Given the description of an element on the screen output the (x, y) to click on. 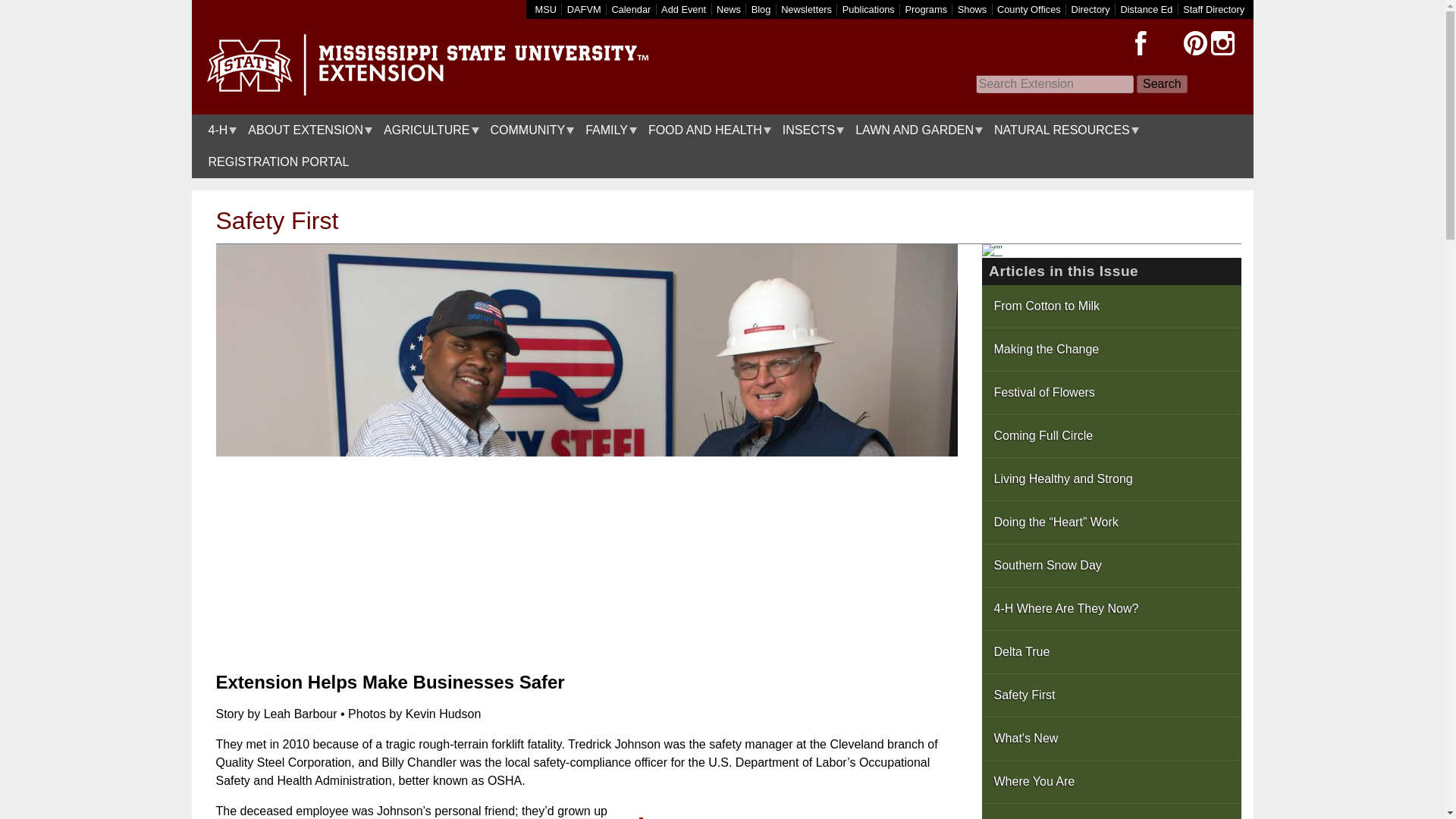
Publications (869, 9)
Twitter (1167, 43)
Facebook (1140, 43)
County Offices (1029, 9)
News (728, 9)
4-H (218, 130)
Staff Directory (1213, 9)
Newsletters (805, 9)
Link to Mississippi State University (545, 9)
DAFVM (584, 9)
